Given the description of an element on the screen output the (x, y) to click on. 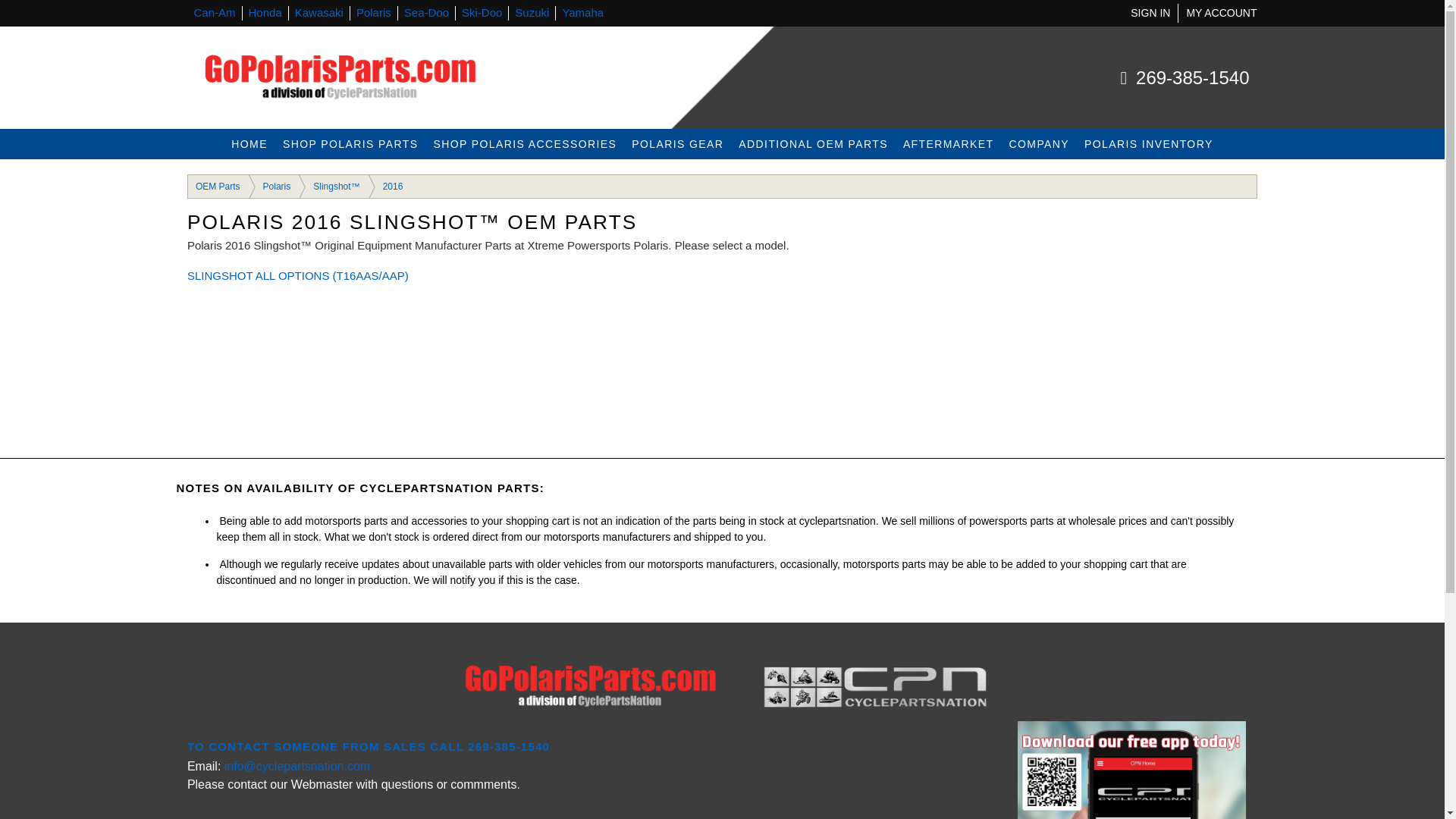
Sign In (1150, 12)
Suzuki (531, 11)
Ski-Doo (481, 11)
Honda (265, 11)
SIGN IN (1150, 12)
Can-Am (214, 11)
MY ACCOUNT (1221, 12)
Polaris (373, 11)
Kawasaki (319, 11)
Yamaha (583, 11)
Sea-Doo (426, 11)
269-385-1540 (1190, 76)
